Given the description of an element on the screen output the (x, y) to click on. 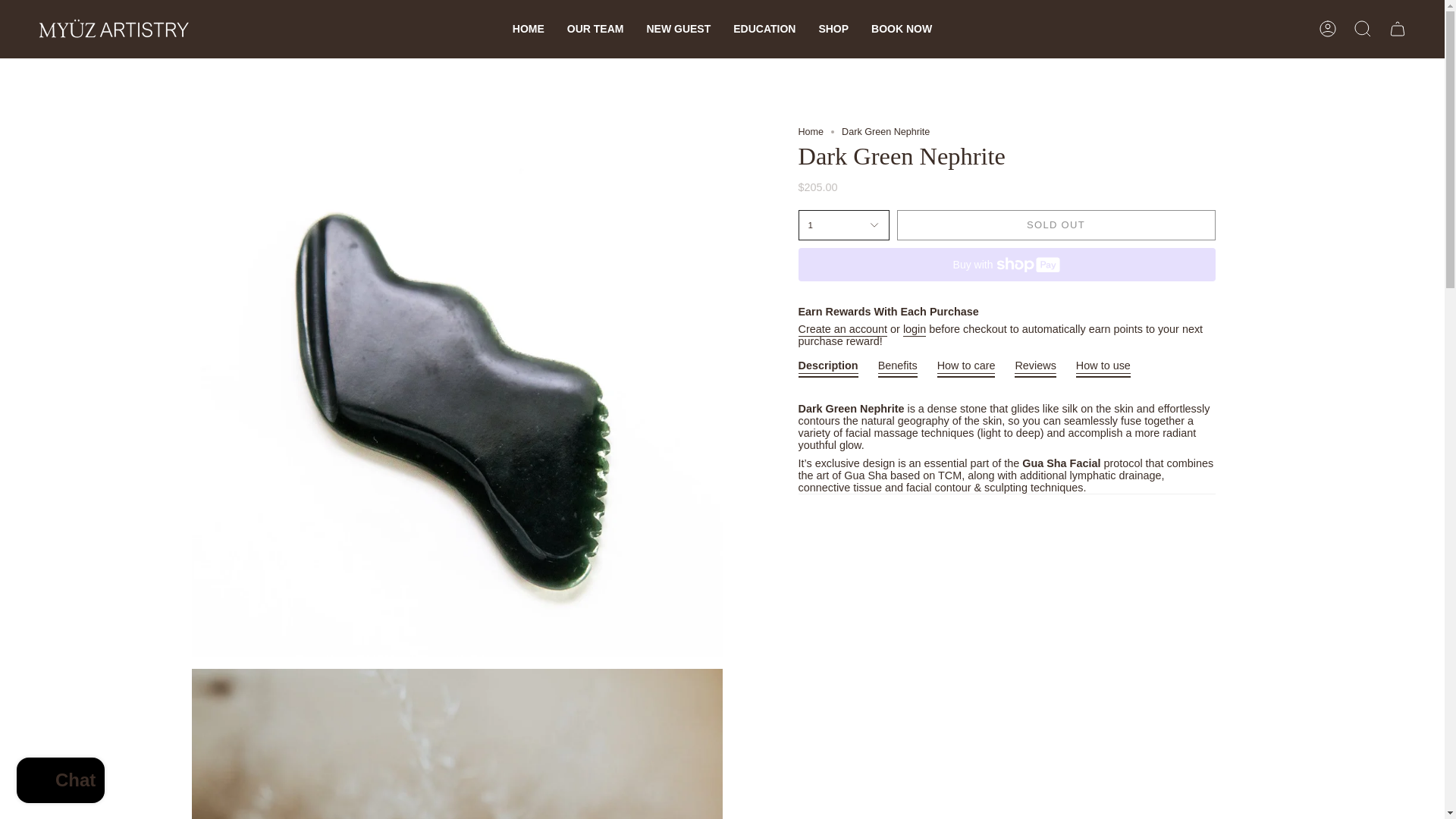
OUR TEAM (595, 28)
HOME (528, 28)
Cart (1397, 28)
NEW GUEST (678, 28)
My Account (1327, 28)
Shopify online store chat (60, 781)
Search (1362, 28)
